Given the description of an element on the screen output the (x, y) to click on. 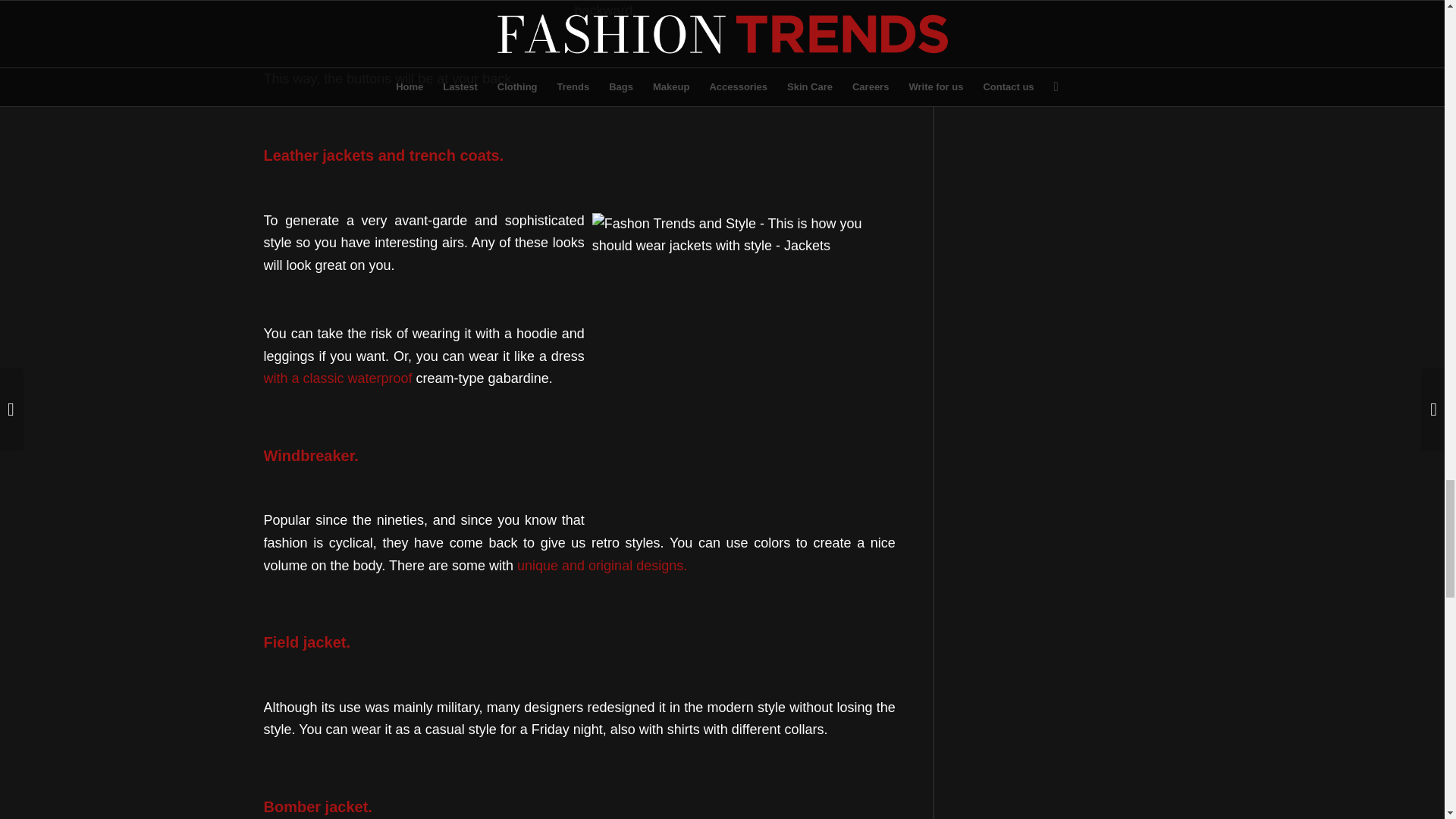
unique and original designs. (601, 565)
with a classic waterproof (337, 378)
Choose the ideal waterproof jacket for you (337, 378)
